Given the description of an element on the screen output the (x, y) to click on. 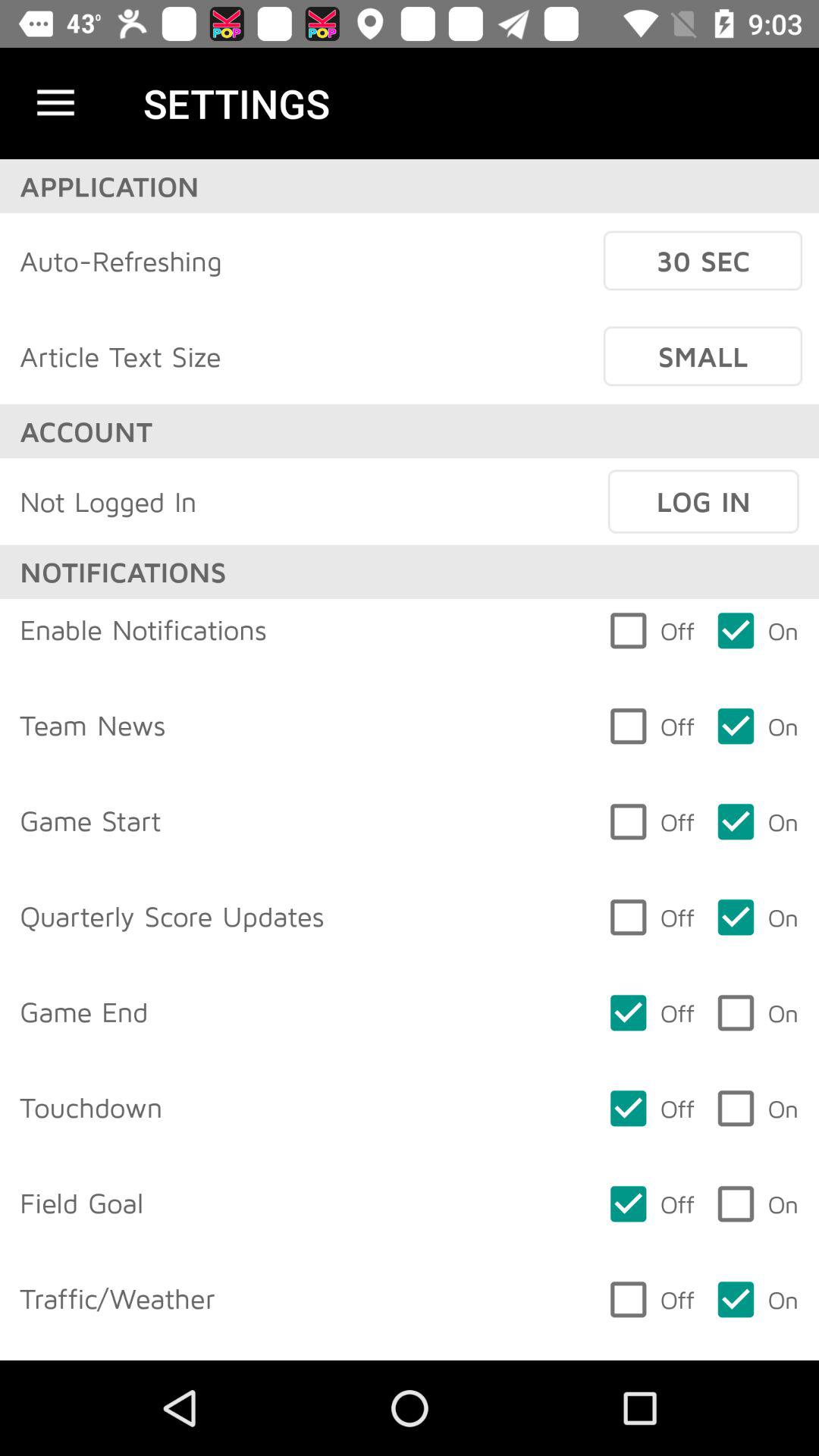
launch icon next to not logged in icon (703, 501)
